Given the description of an element on the screen output the (x, y) to click on. 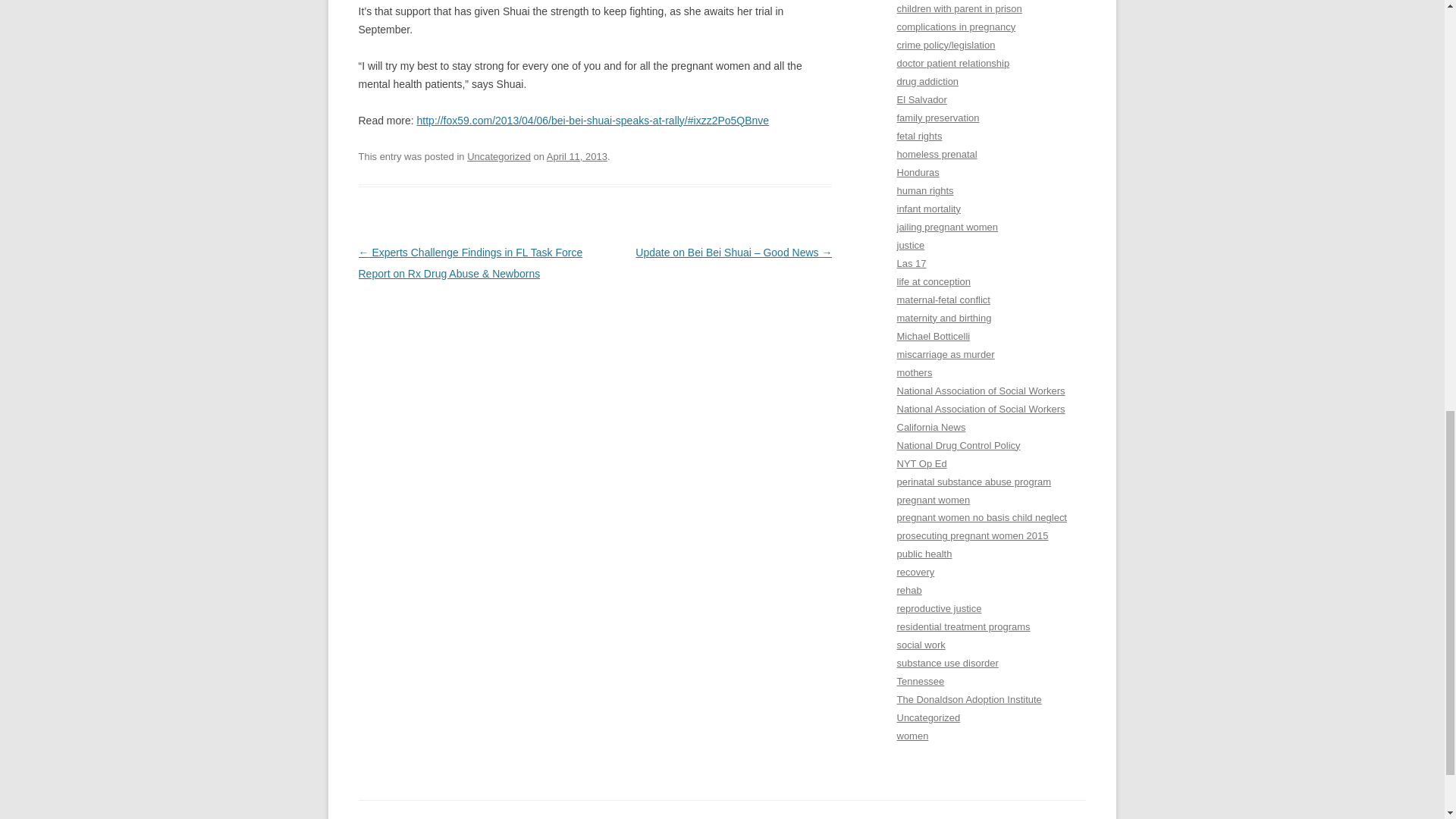
April 11, 2013 (577, 156)
Uncategorized (499, 156)
human rights (924, 190)
El Salvador (921, 99)
Honduras (917, 172)
doctor patient relationship (952, 62)
infant mortality (927, 208)
family preservation (937, 117)
children with parent in prison (959, 8)
homeless prenatal (936, 153)
